Given the description of an element on the screen output the (x, y) to click on. 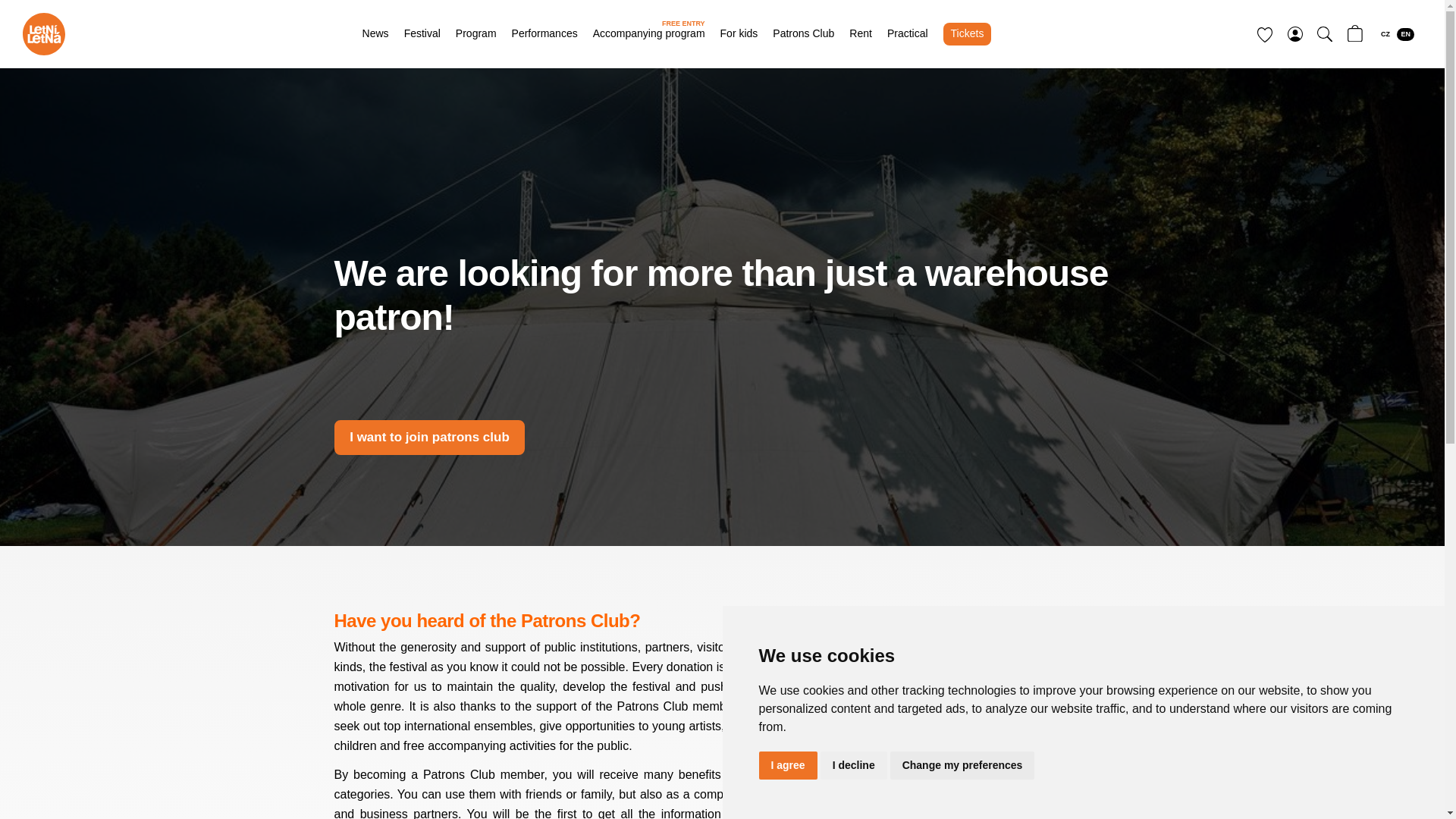
favorites (1264, 34)
Change my preferences (962, 765)
I decline (648, 32)
EN (853, 765)
Performances (1404, 33)
CZ (545, 32)
Patrons Club (1385, 33)
Logo (803, 32)
favorites (44, 34)
